Given the description of an element on the screen output the (x, y) to click on. 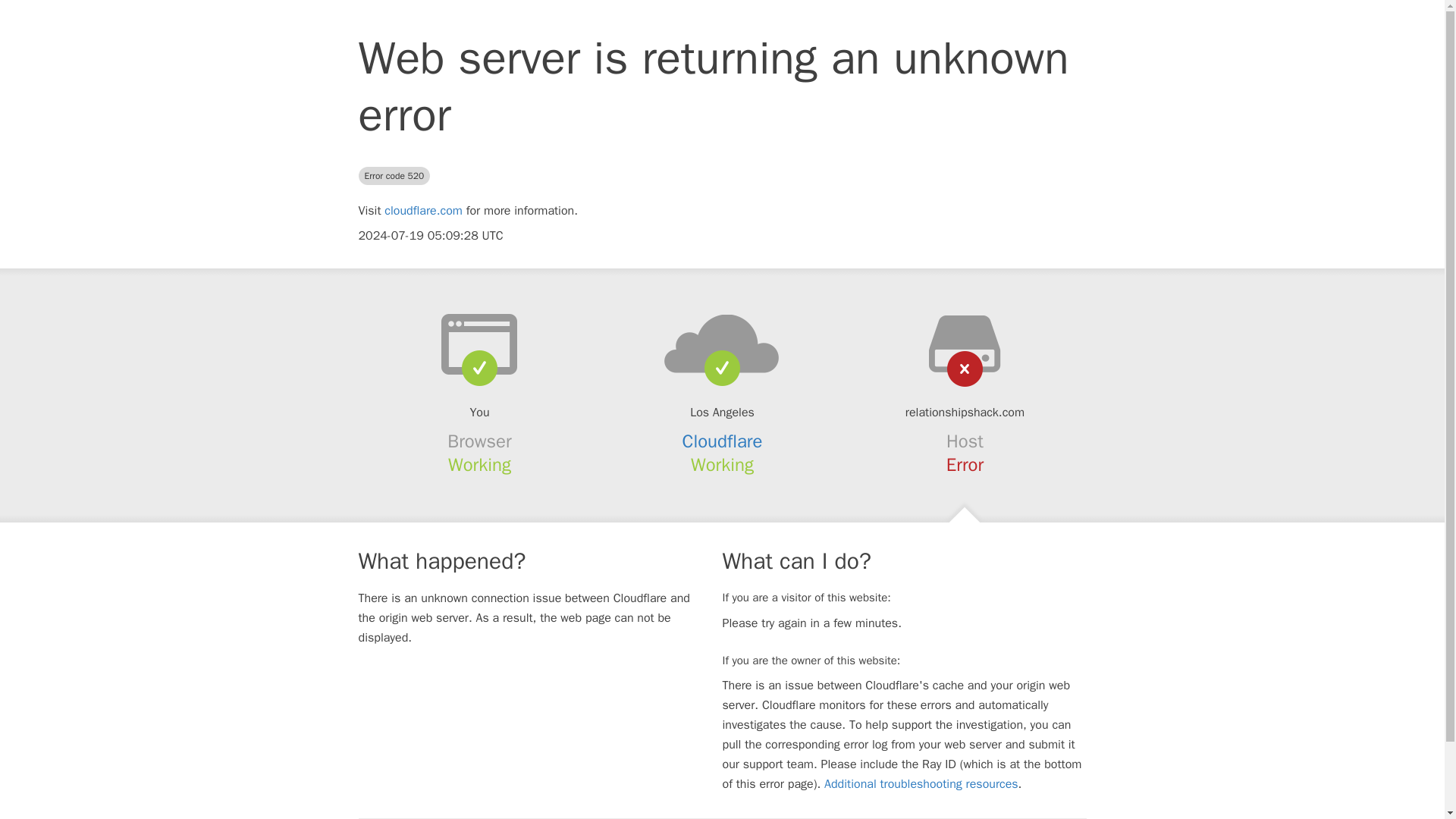
cloudflare.com (423, 210)
Cloudflare (722, 440)
Additional troubleshooting resources (920, 783)
